Given the description of an element on the screen output the (x, y) to click on. 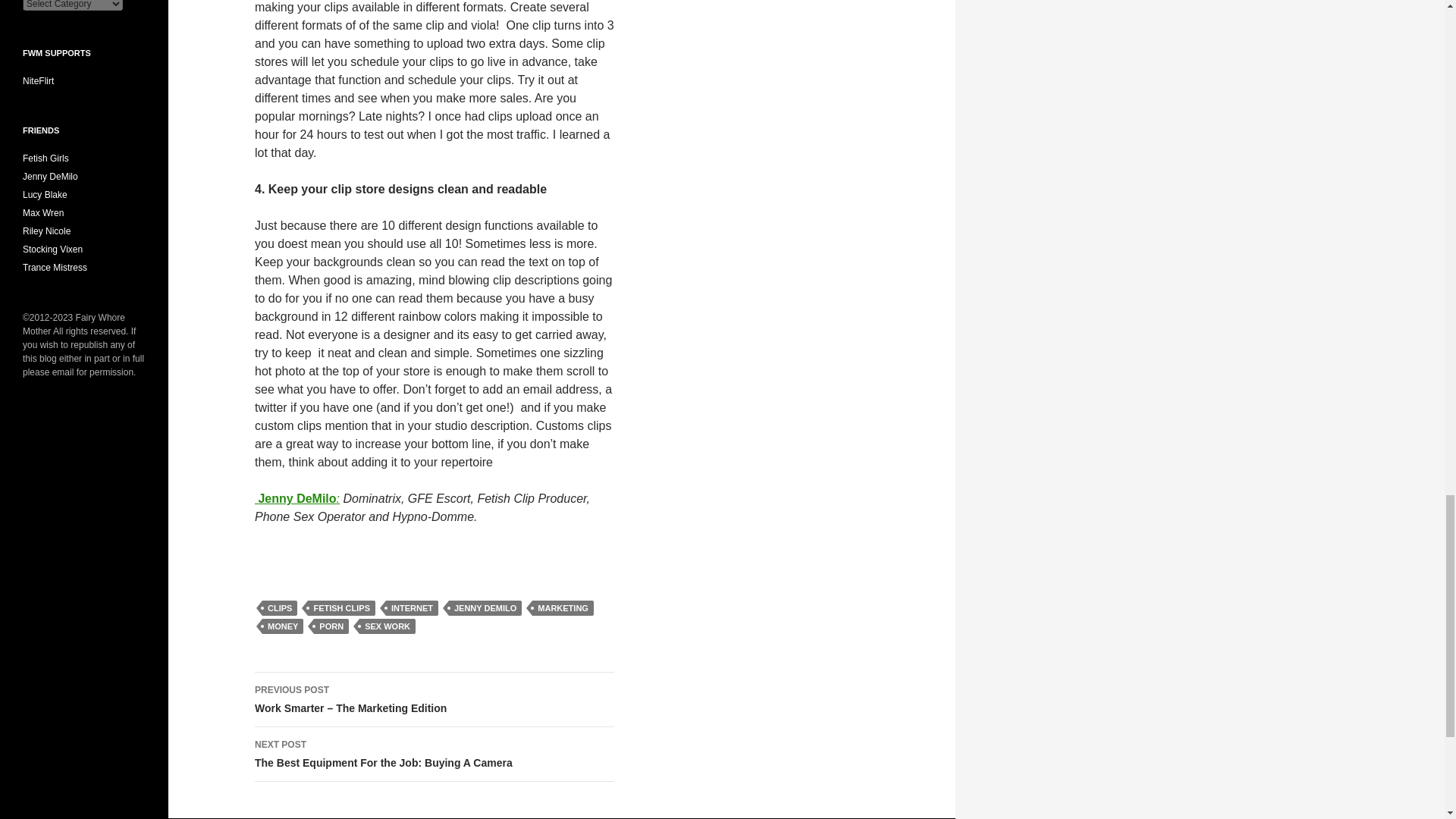
FETISH CLIPS (341, 607)
CLIPS (279, 607)
SEX WORK (386, 626)
MONEY (282, 626)
PORN (331, 626)
JENNY DEMILO (484, 607)
 Jenny DeMilo (295, 498)
MARKETING (563, 607)
INTERNET (411, 607)
